Given the description of an element on the screen output the (x, y) to click on. 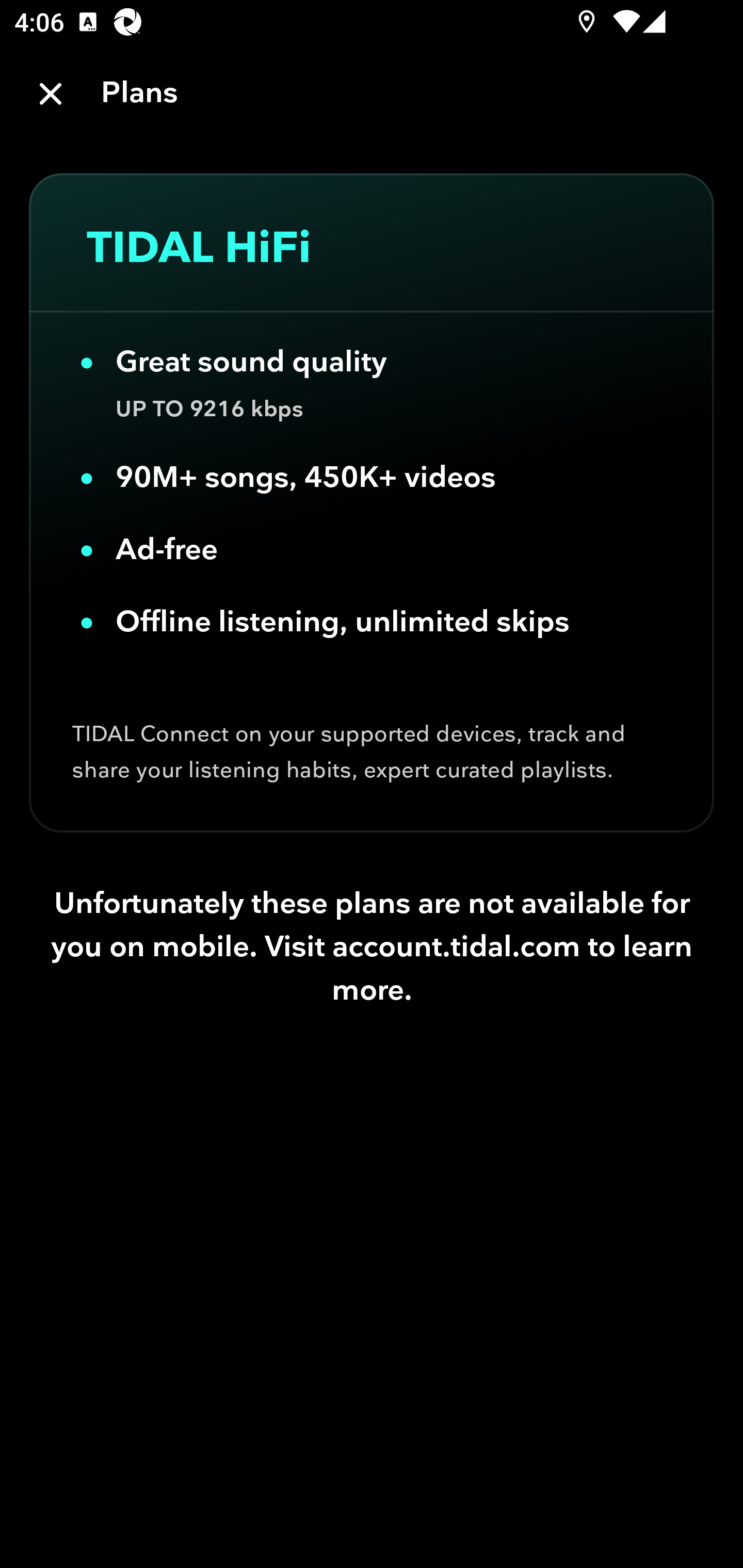
Close (50, 93)
